Given the description of an element on the screen output the (x, y) to click on. 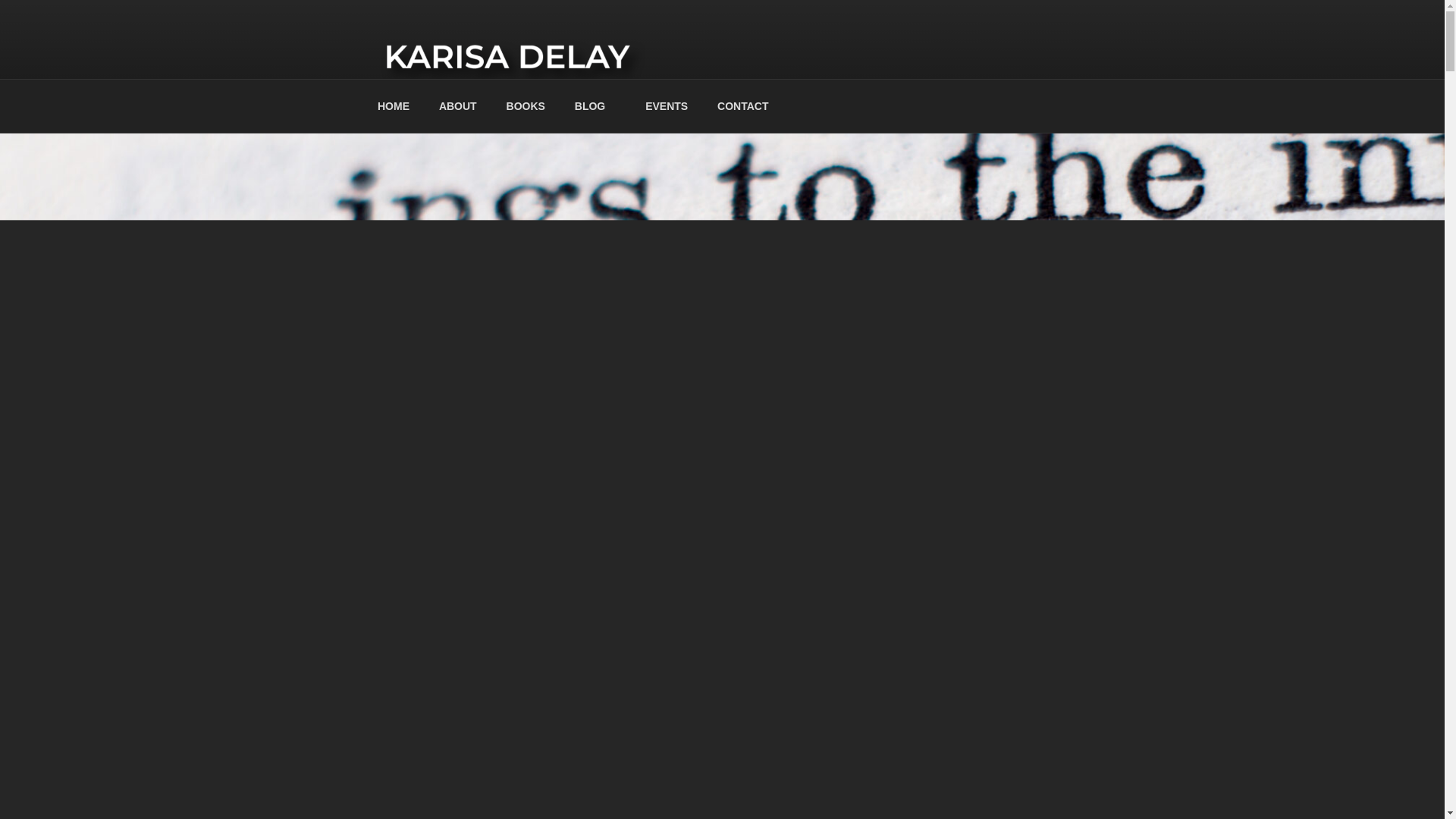
CONTACT (742, 106)
BLOG (594, 106)
ABOUT (457, 106)
BOOKS (525, 106)
EVENTS (666, 106)
HOME (393, 106)
KARISA DELAY (492, 113)
